Given the description of an element on the screen output the (x, y) to click on. 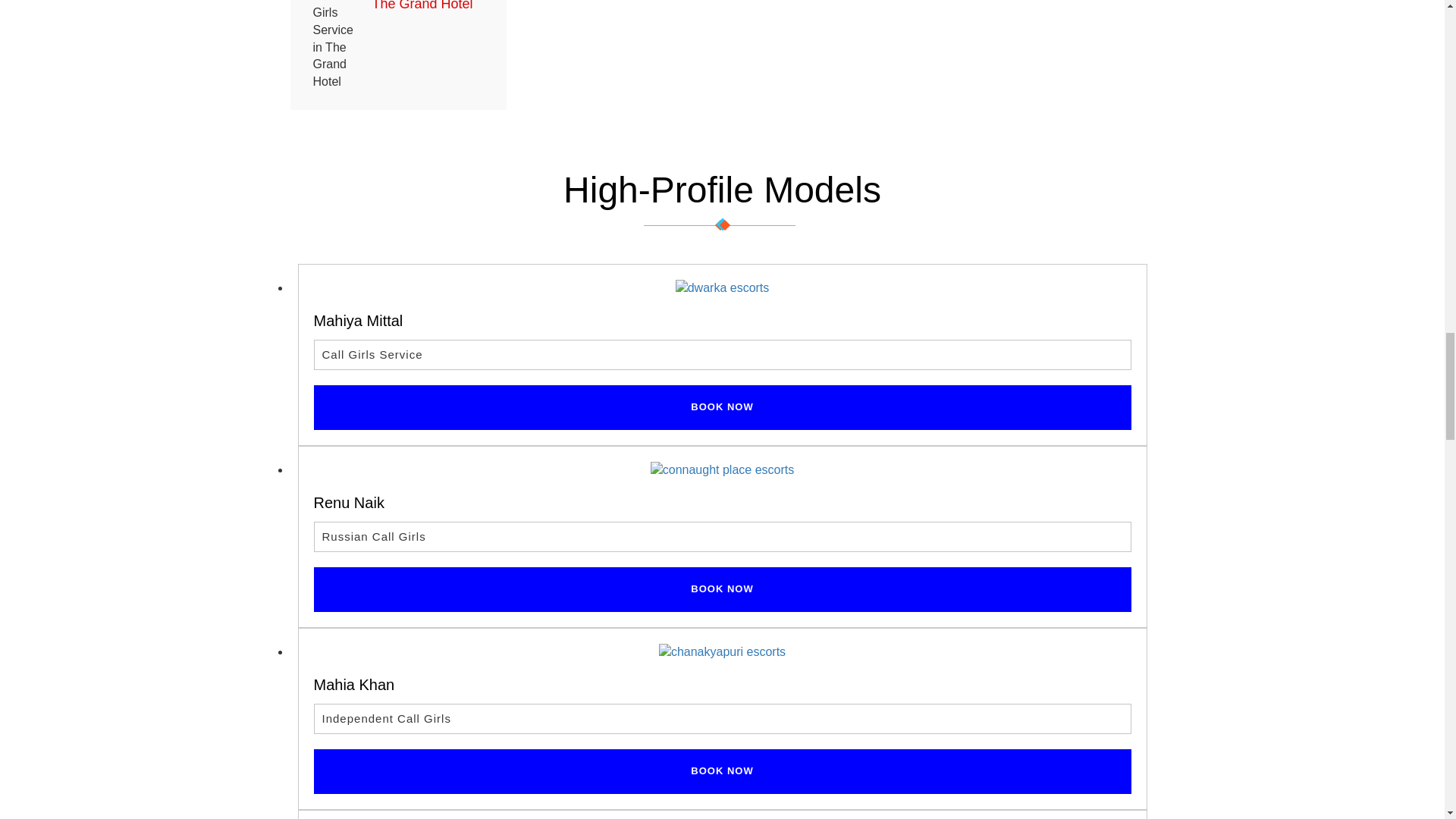
Book Now (722, 589)
Book Now (722, 771)
Book Now (722, 406)
